Given the description of an element on the screen output the (x, y) to click on. 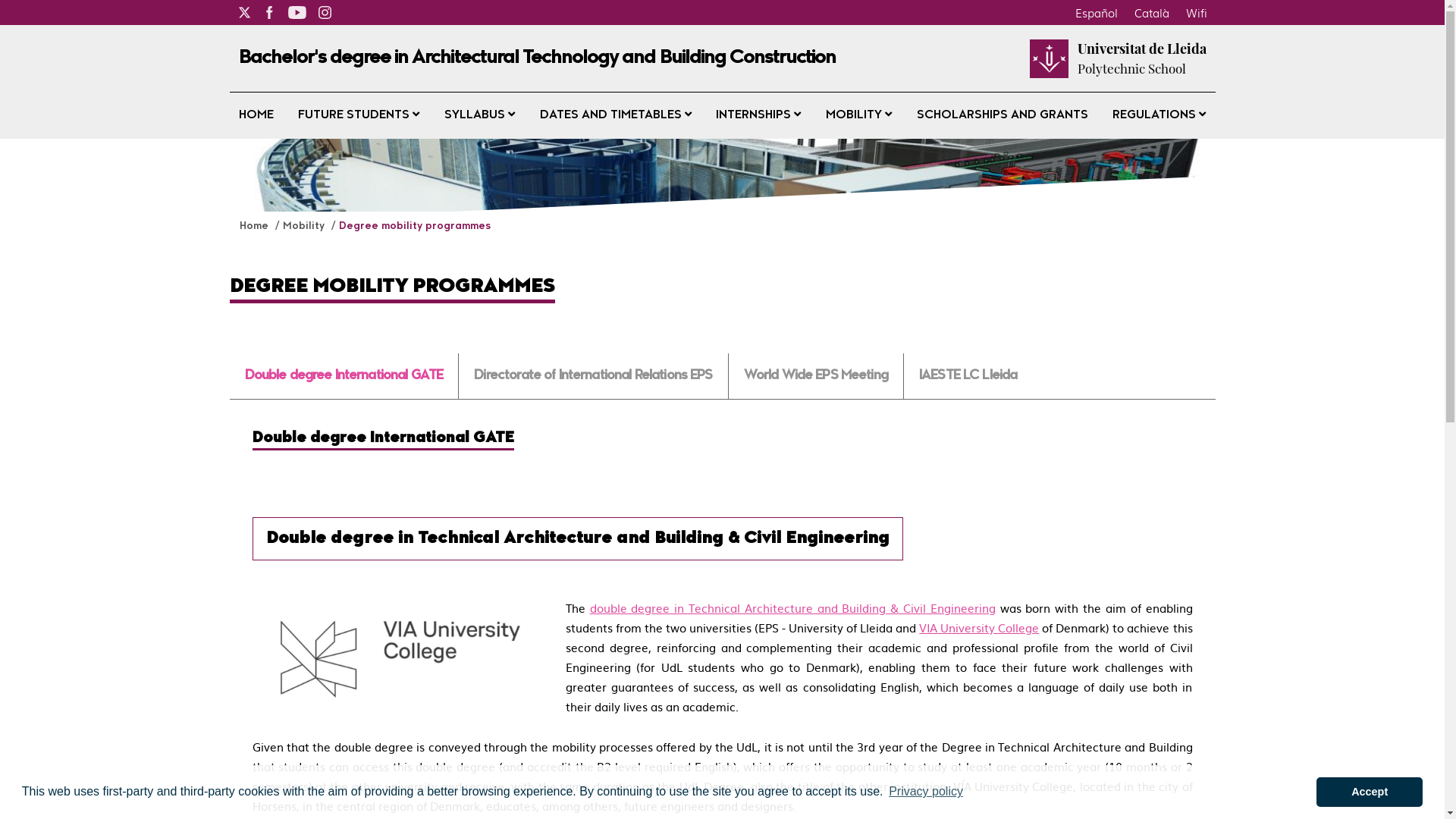
Degree mobility programmes Element type: text (413, 226)
DATES AND TIMETABLES Element type: text (615, 115)
SCHOLARSHIPS AND GRANTS Element type: text (1002, 115)
Universitat de Lleida
Polytechnic School Element type: text (1140, 58)
REGULATIONS Element type: text (1158, 115)
MOBILITY Element type: text (858, 115)
Privacy policy Element type: text (925, 791)
Wifi Element type: text (1195, 12)
INTERNSHIPS Element type: text (757, 115)
Home Element type: text (255, 226)
Mobility Element type: text (304, 226)
VIA University College Element type: text (978, 627)
Accept Element type: text (1369, 791)
HOME Element type: text (255, 115)
FUTURE STUDENTS Element type: text (358, 115)
SYLLABUS Element type: text (479, 115)
